Given the description of an element on the screen output the (x, y) to click on. 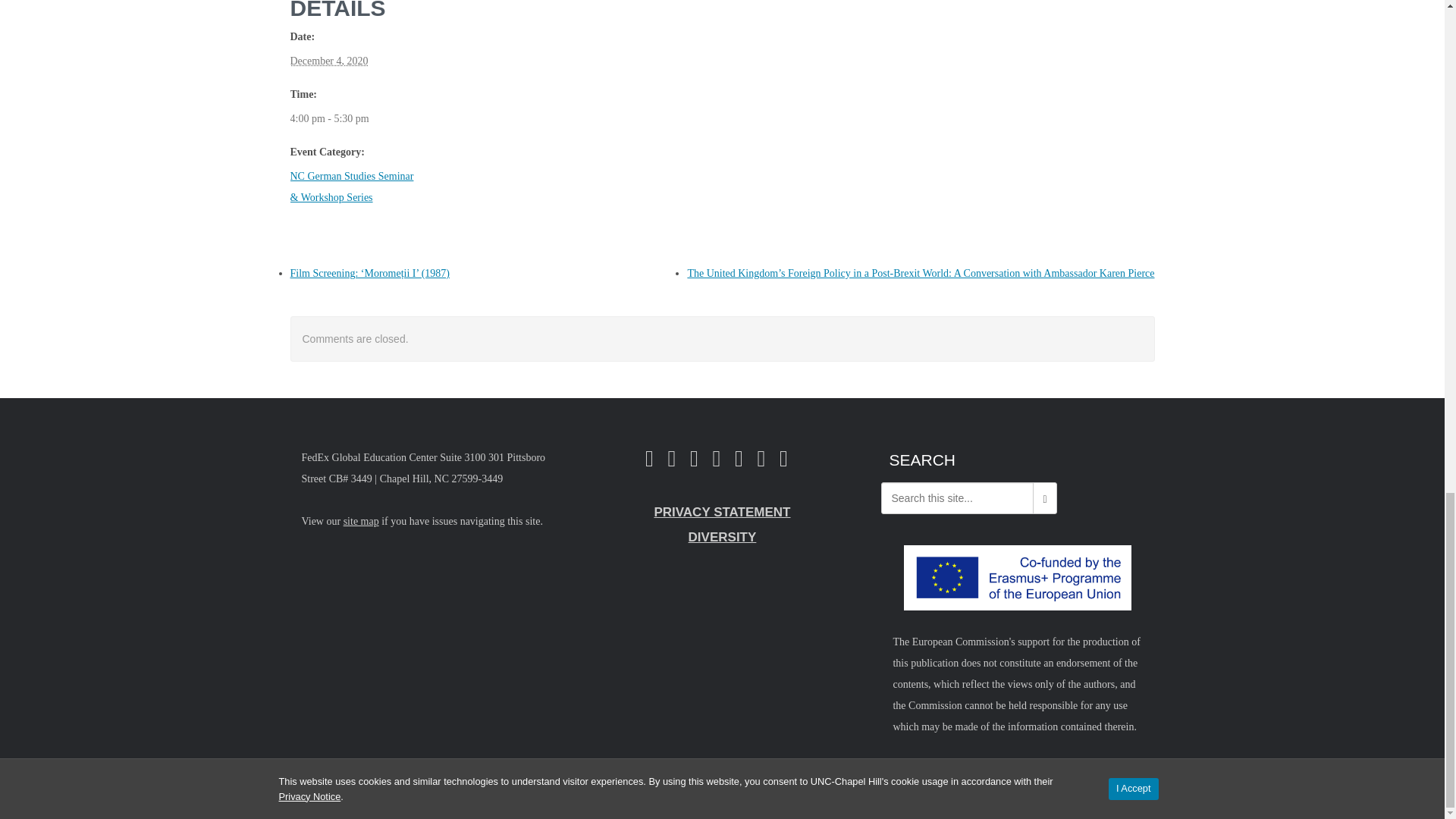
2020-12-04 (328, 118)
2020-12-04 (328, 61)
